Given the description of an element on the screen output the (x, y) to click on. 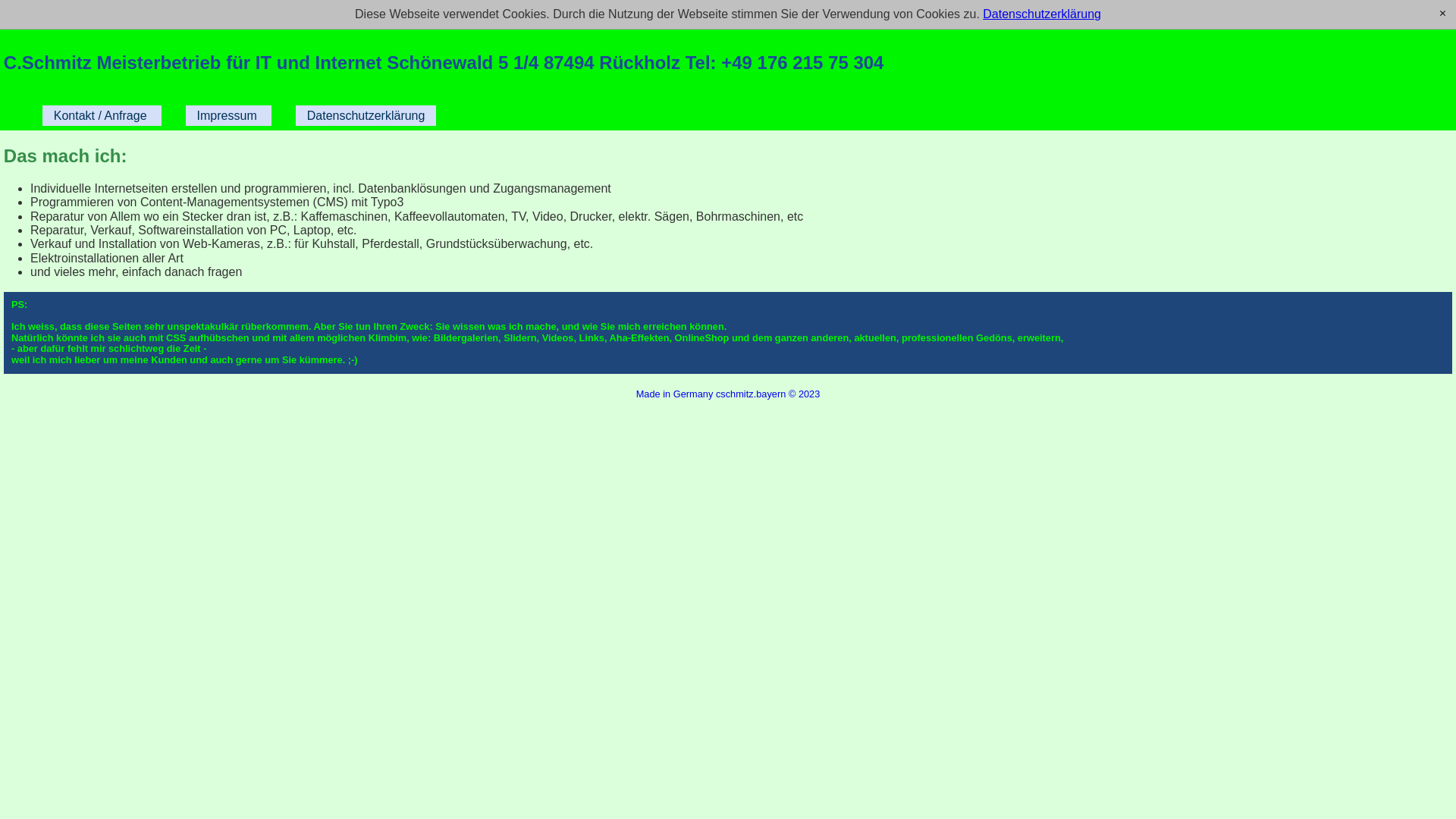
[X] Element type: text (1442, 12)
Kontakt / Anfrage Element type: text (100, 115)
Impressum Element type: text (226, 115)
